Given the description of an element on the screen output the (x, y) to click on. 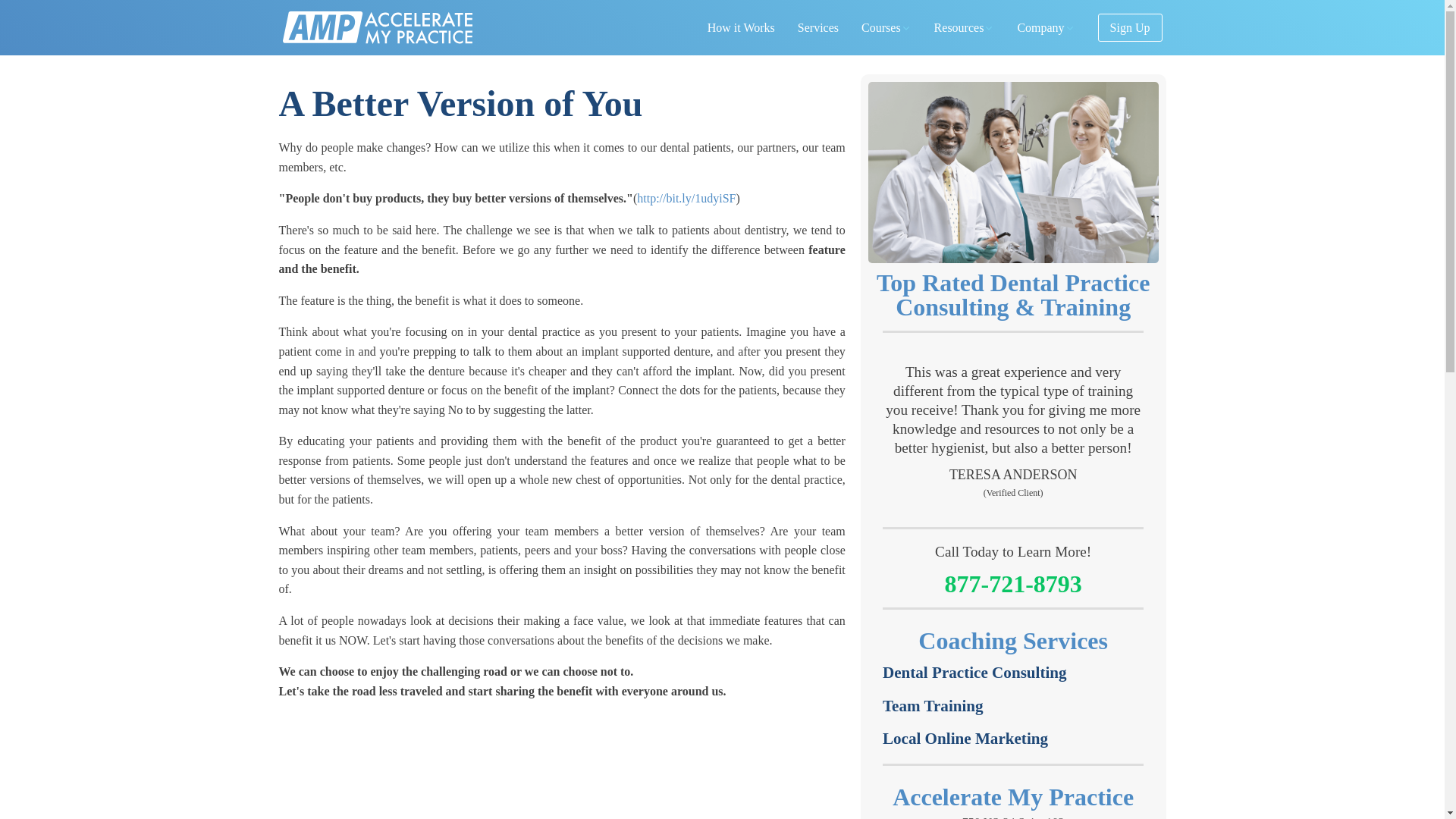
Company (1046, 27)
877-721-8793 (1012, 581)
How it Works (740, 27)
Dental Practice Consulting (974, 673)
Resources (1013, 816)
Sign Up (964, 27)
Local Online Marketing (1129, 27)
Courses (965, 739)
Team Training (886, 27)
